Given the description of an element on the screen output the (x, y) to click on. 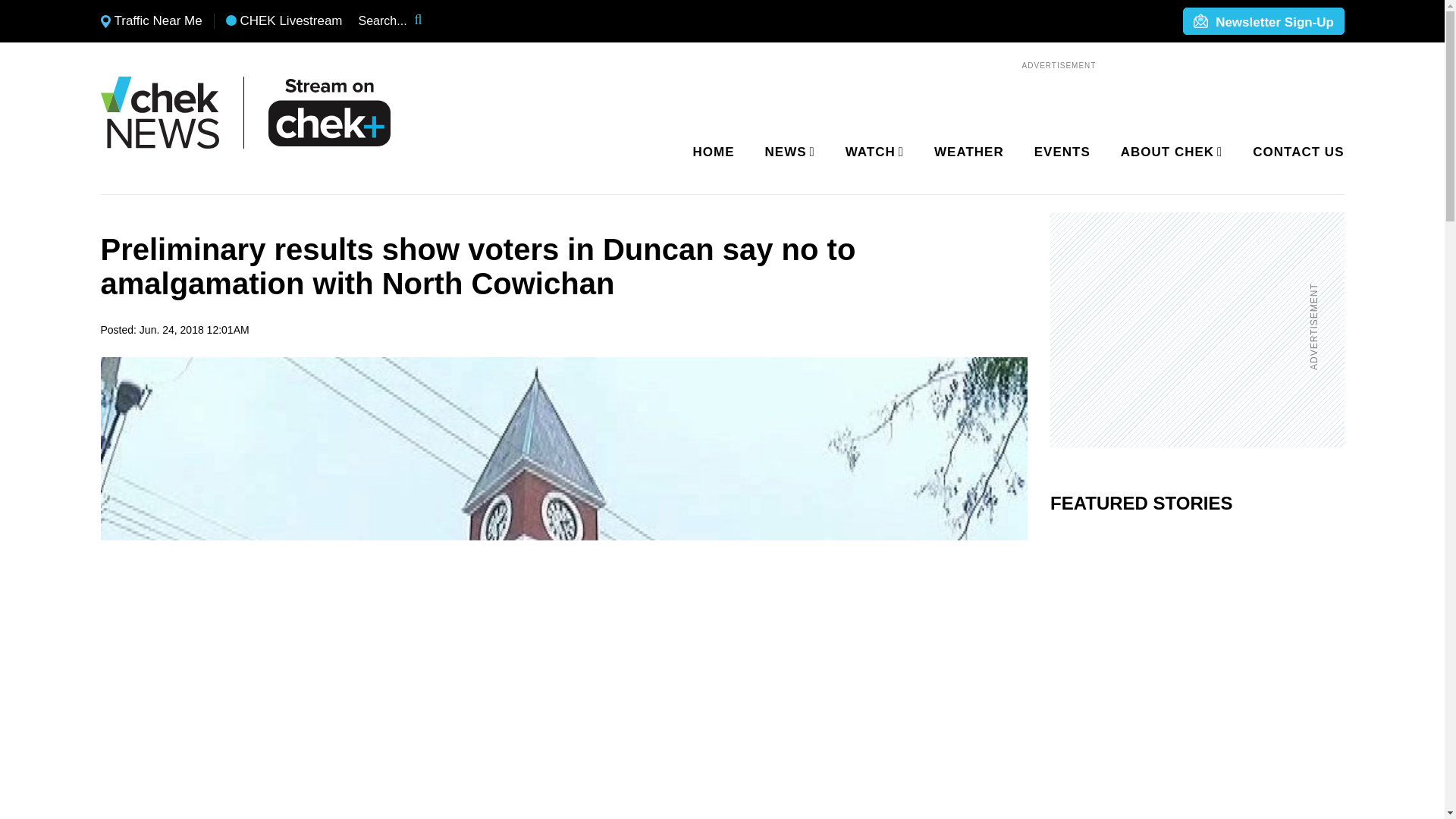
CHEK Livestream (283, 20)
Search (428, 21)
Traffic Near Me (151, 20)
Newsletter Sign-Up (1262, 22)
HOME (714, 152)
NEWS (787, 152)
